Given the description of an element on the screen output the (x, y) to click on. 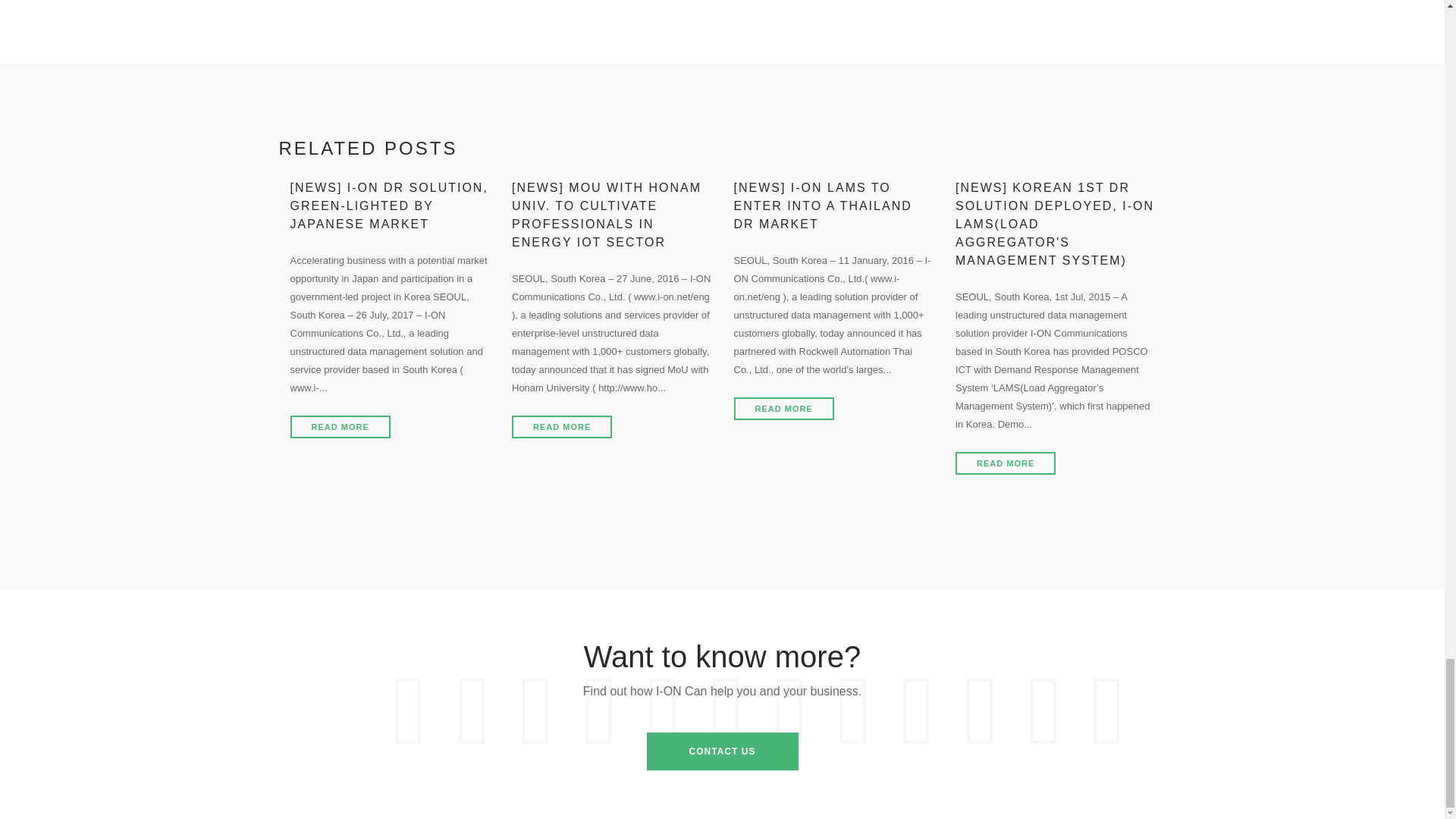
READ MORE (783, 408)
READ MORE (561, 426)
CONTACT US (721, 751)
READ MORE (1005, 463)
READ MORE (339, 426)
